Given the description of an element on the screen output the (x, y) to click on. 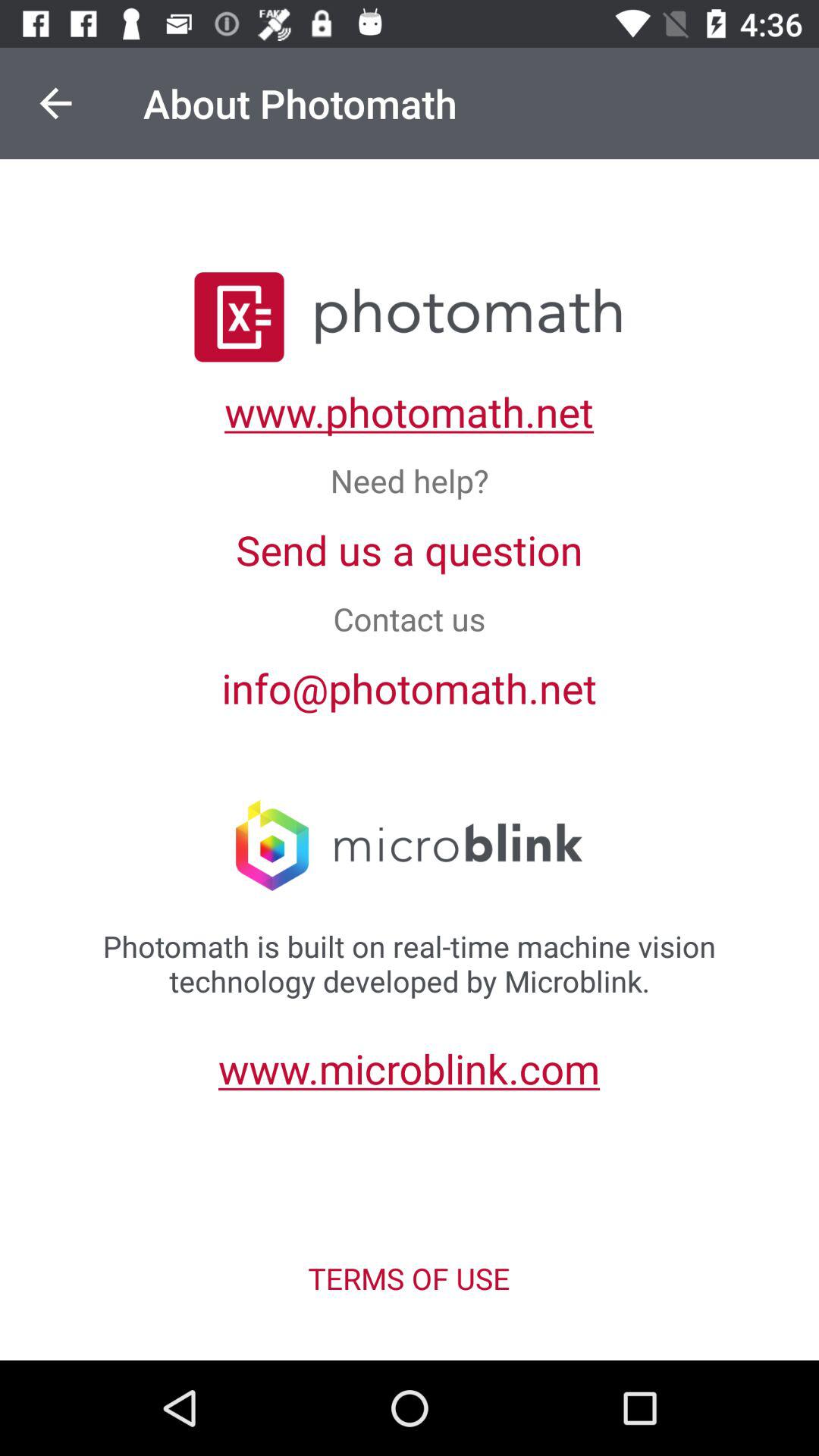
tap the item below the need help? icon (409, 549)
